Given the description of an element on the screen output the (x, y) to click on. 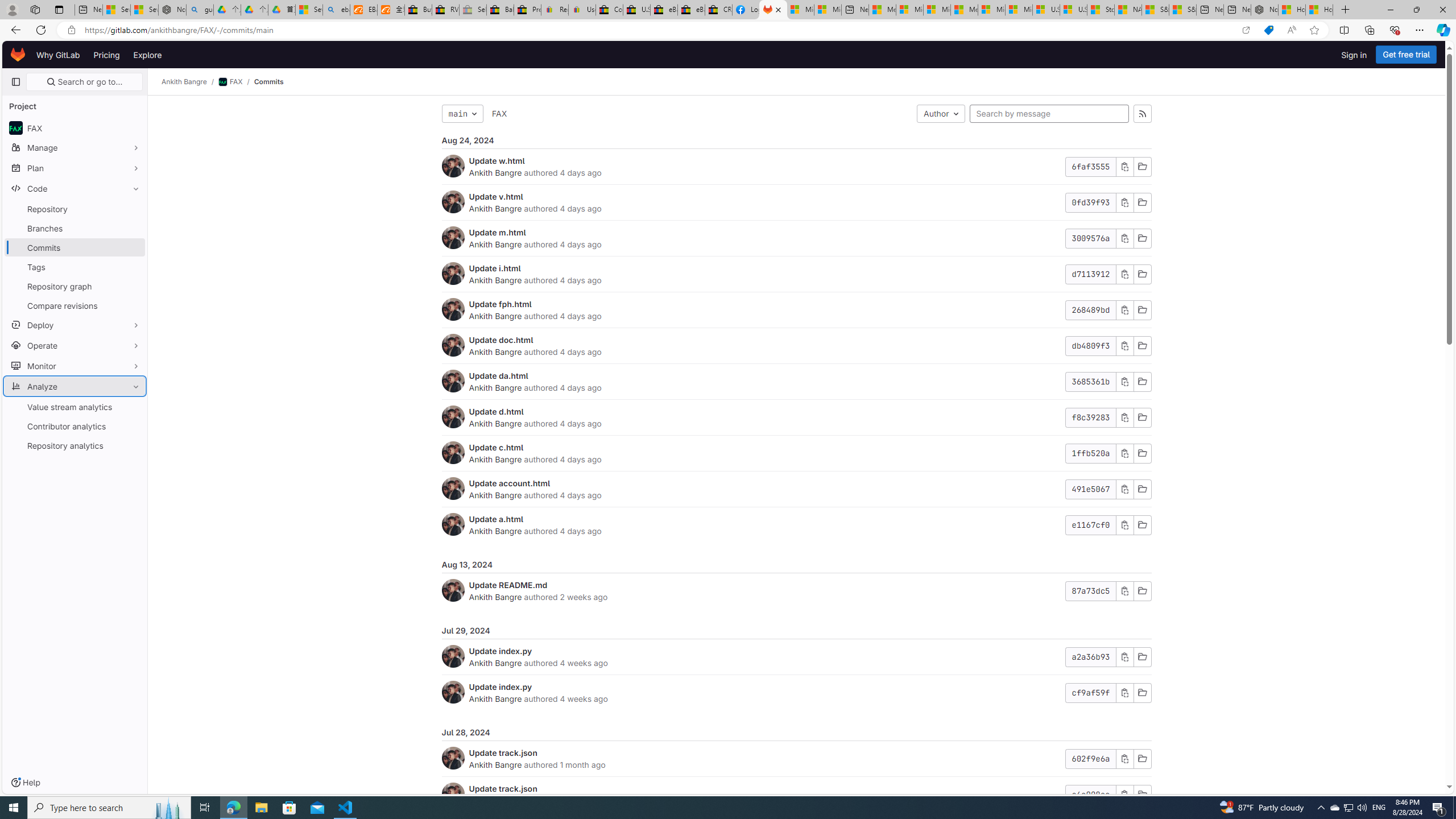
Pricing (106, 54)
Sign in (1353, 54)
Repository (74, 208)
Tags (74, 266)
Why GitLab (58, 54)
Monitor (74, 365)
Update m.htmlAnkith Bangre authored 4 days ago3009576a (796, 238)
Update da.html (498, 375)
Class: s16 gl-icon gl-button-icon  (1124, 794)
Help (25, 782)
Update README.mdAnkith Bangre authored 2 weeks ago87a73dc5 (796, 590)
